Given the description of an element on the screen output the (x, y) to click on. 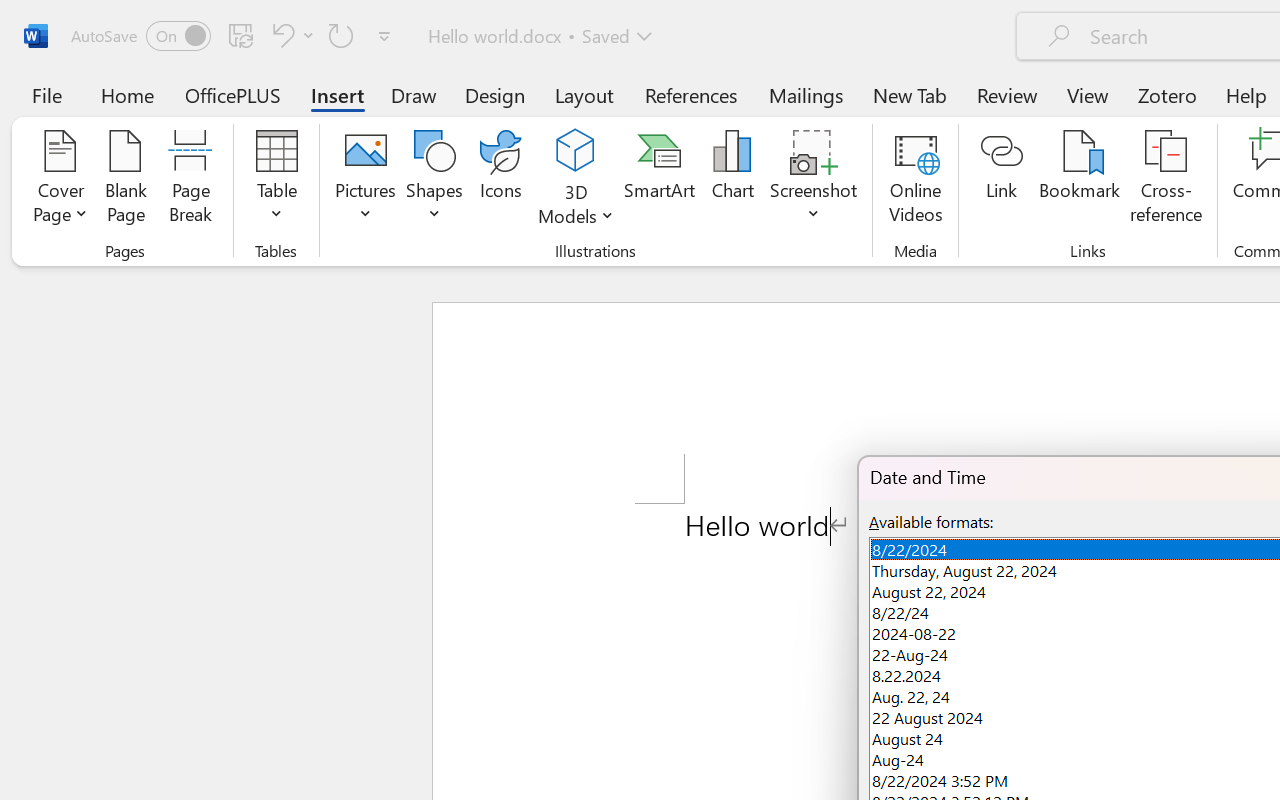
Layout (584, 94)
Online Videos... (915, 179)
Can't Undo (280, 35)
Pictures (365, 179)
New Tab (909, 94)
Blank Page (125, 179)
SmartArt... (659, 179)
Insert (337, 94)
Shapes (435, 179)
Customize Quick Access Toolbar (384, 35)
Chart... (732, 179)
Mailings (806, 94)
Page Break (190, 179)
Can't Repeat (341, 35)
